Given the description of an element on the screen output the (x, y) to click on. 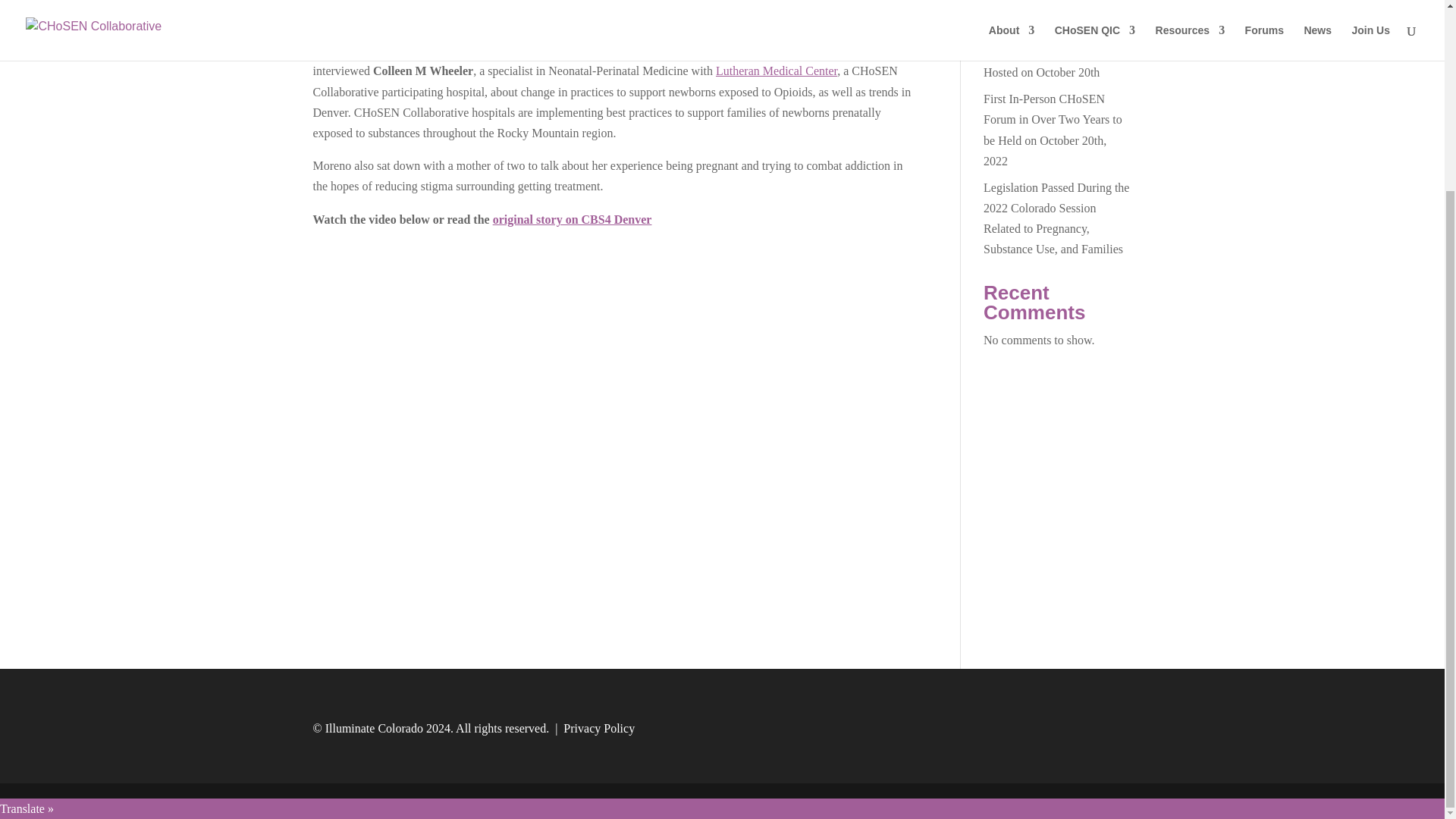
original story on CBS4 Denver (572, 238)
Fall 2023 CHoSEN Forum Hosted on October 20th (1048, 2)
Fall 2022 CHoSEN Forum Hosted on October 20th (1048, 82)
Lutheran Medical Center (776, 91)
April 2023 CHoSEN Forum Hosted on April 18th (1052, 34)
Privacy Policy (598, 748)
